Given the description of an element on the screen output the (x, y) to click on. 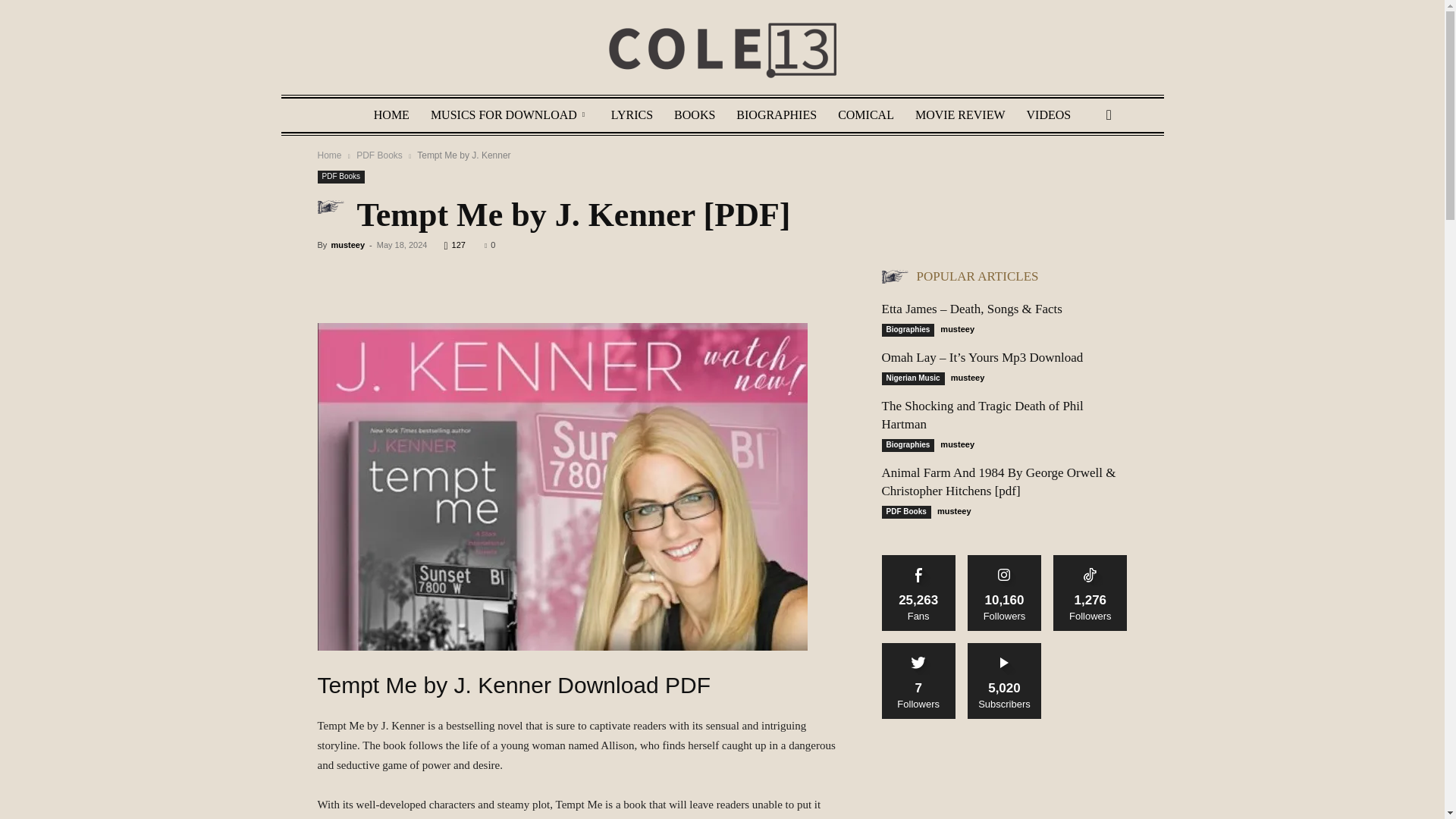
0 (489, 244)
Home (328, 154)
BOOKS (694, 114)
LYRICS (631, 114)
musteey (347, 244)
PDF Books (341, 176)
COMICAL (865, 114)
MOVIE REVIEW (960, 114)
VIDEOS (1048, 114)
BIOGRAPHIES (776, 114)
Search (1085, 174)
Cole13 (722, 49)
View all posts in PDF Books (379, 154)
PDF Books (379, 154)
